Given the description of an element on the screen output the (x, y) to click on. 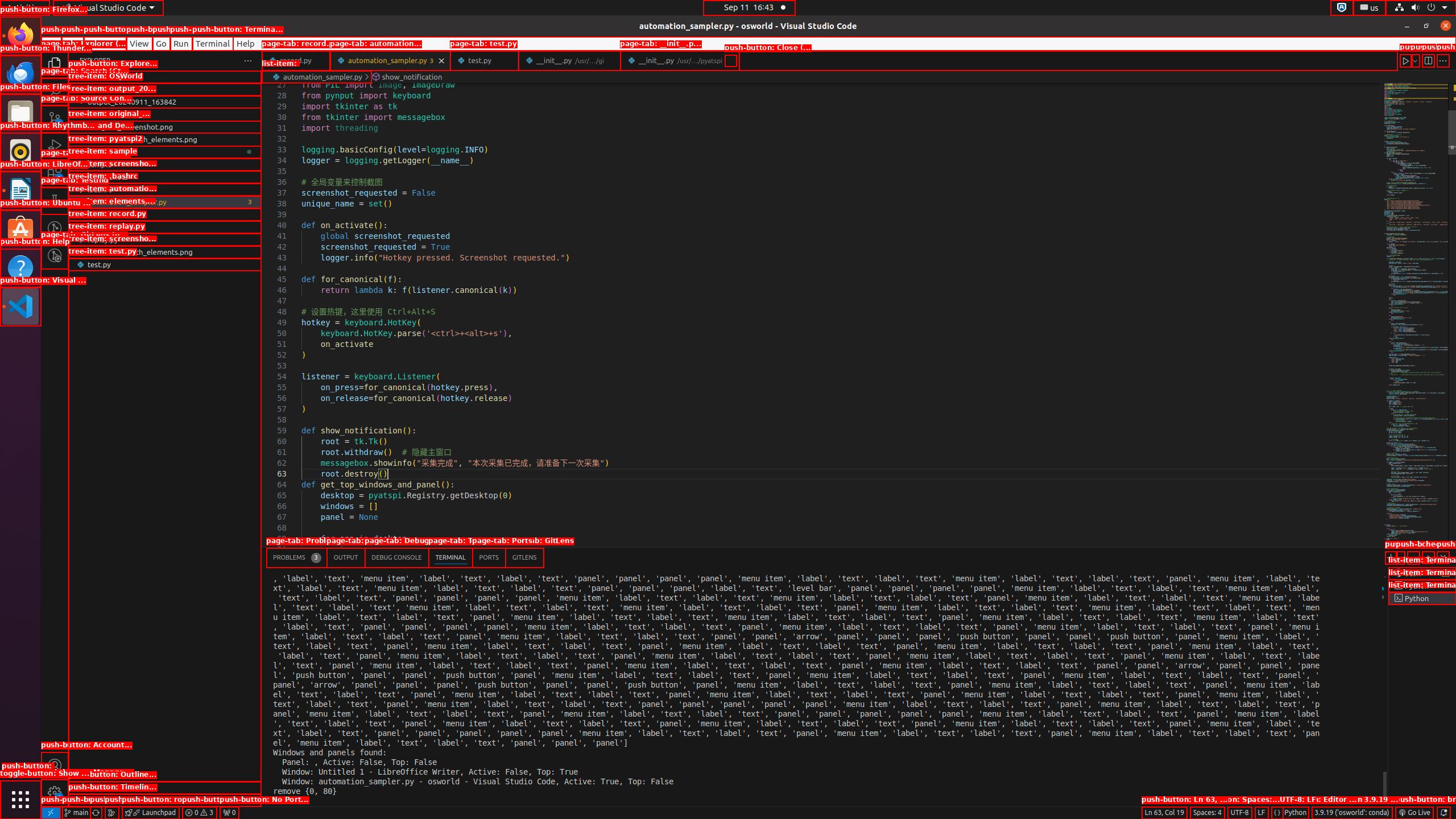
Terminal 5 Python Element type: list-item (1422, 598)
Edit Element type: push-button (72, 43)
3.9.19 ('osworld': conda), ~/anaconda3/envs/osworld/bin/python Element type: push-button (1351, 812)
Terminal 1 bash Element type: list-item (1422, 573)
.bashrc Element type: tree-item (164, 189)
